Given the description of an element on the screen output the (x, y) to click on. 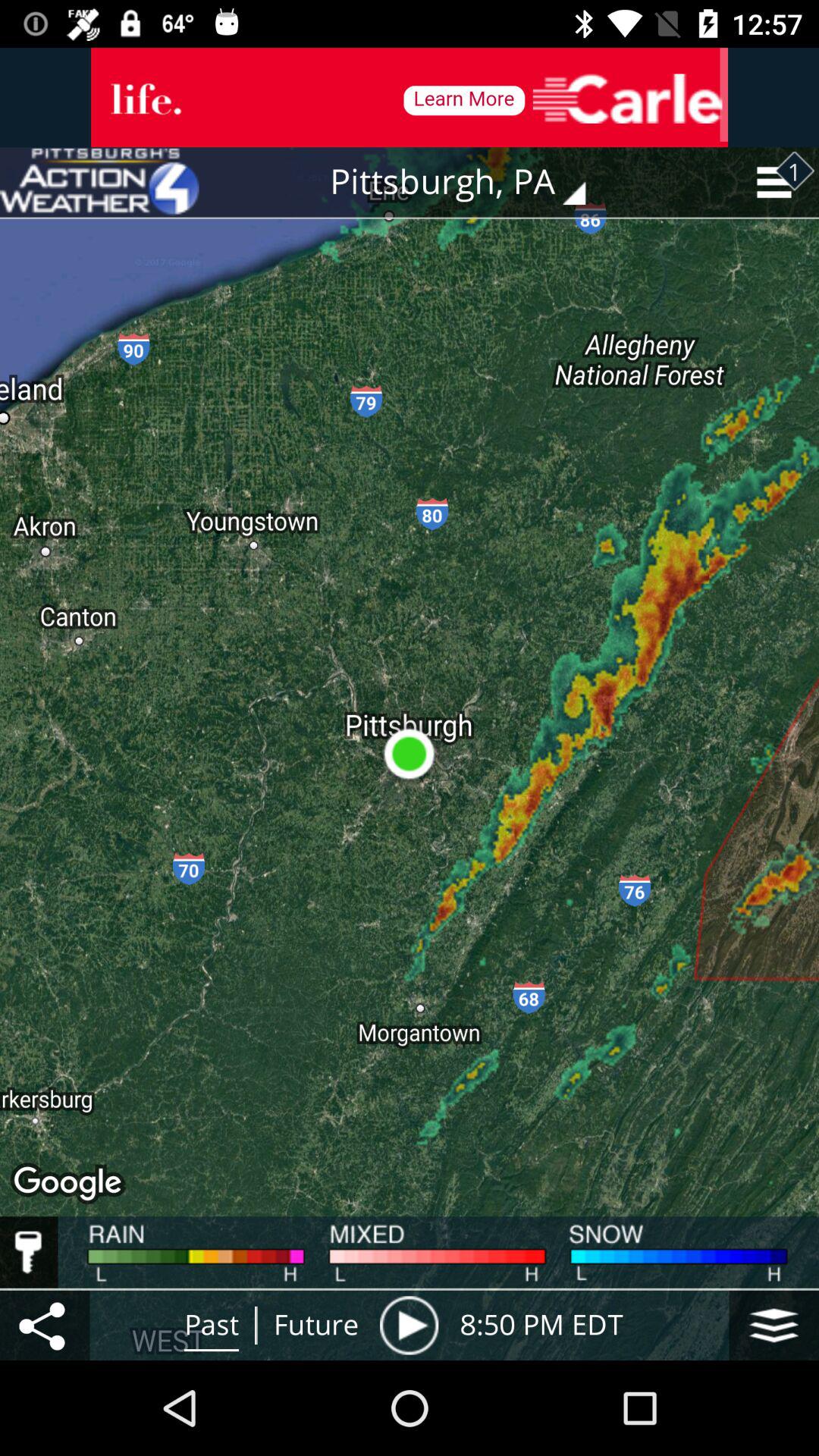
visit sponsor (409, 97)
